Given the description of an element on the screen output the (x, y) to click on. 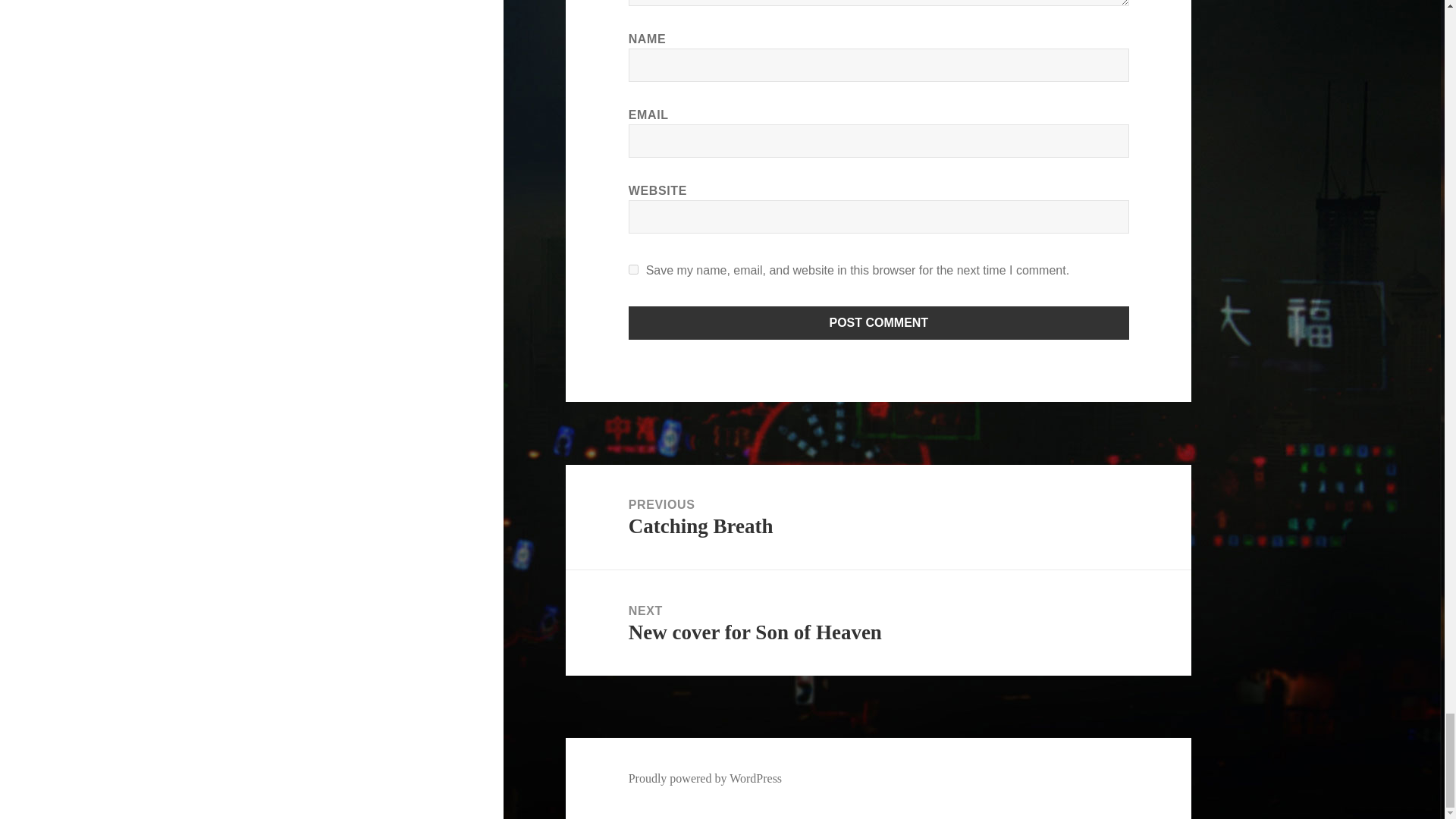
Post Comment (878, 322)
yes (633, 269)
